Given the description of an element on the screen output the (x, y) to click on. 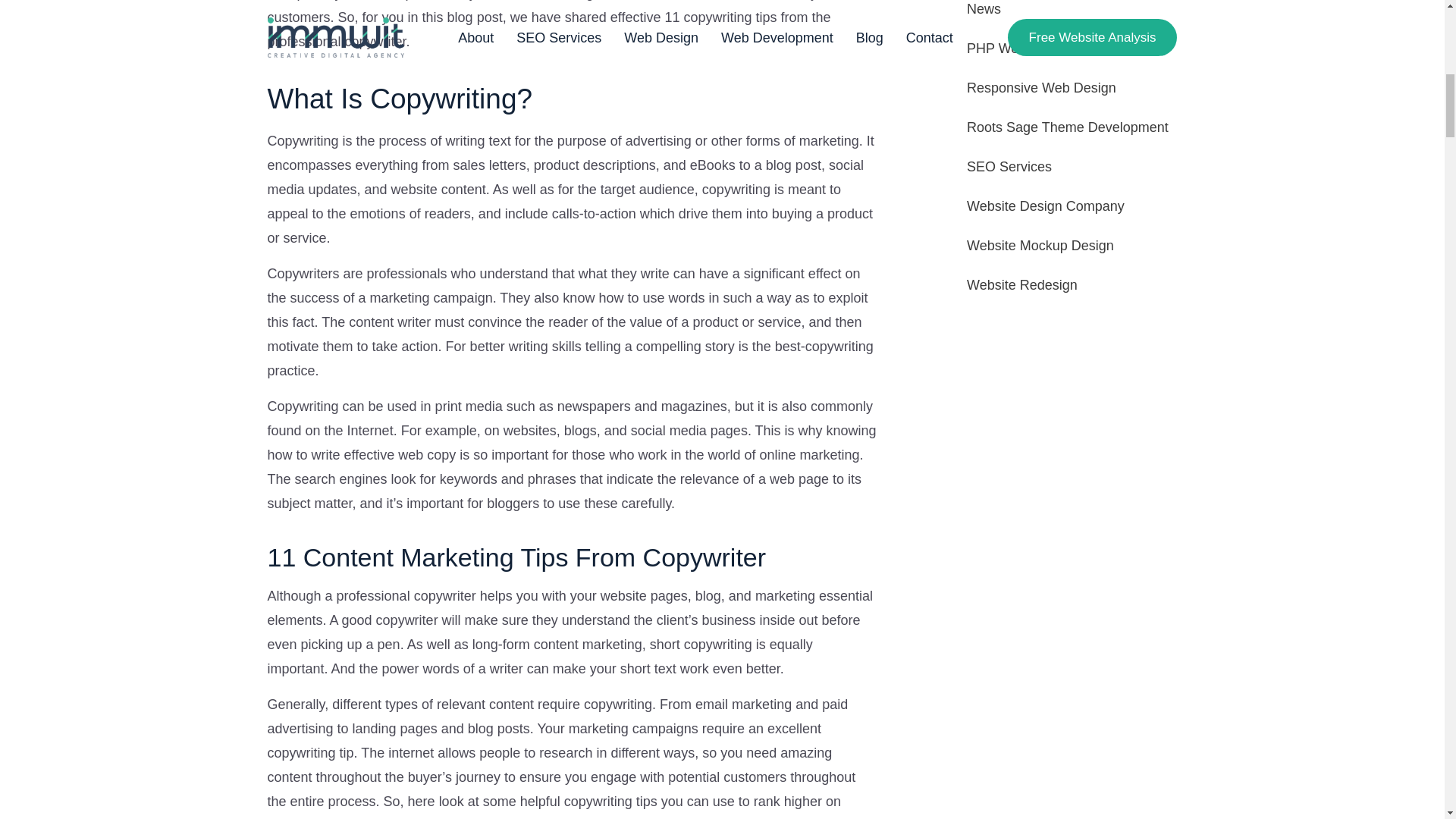
PHP Web Development (1037, 48)
Responsive Web Design (1041, 87)
News (983, 8)
